Given the description of an element on the screen output the (x, y) to click on. 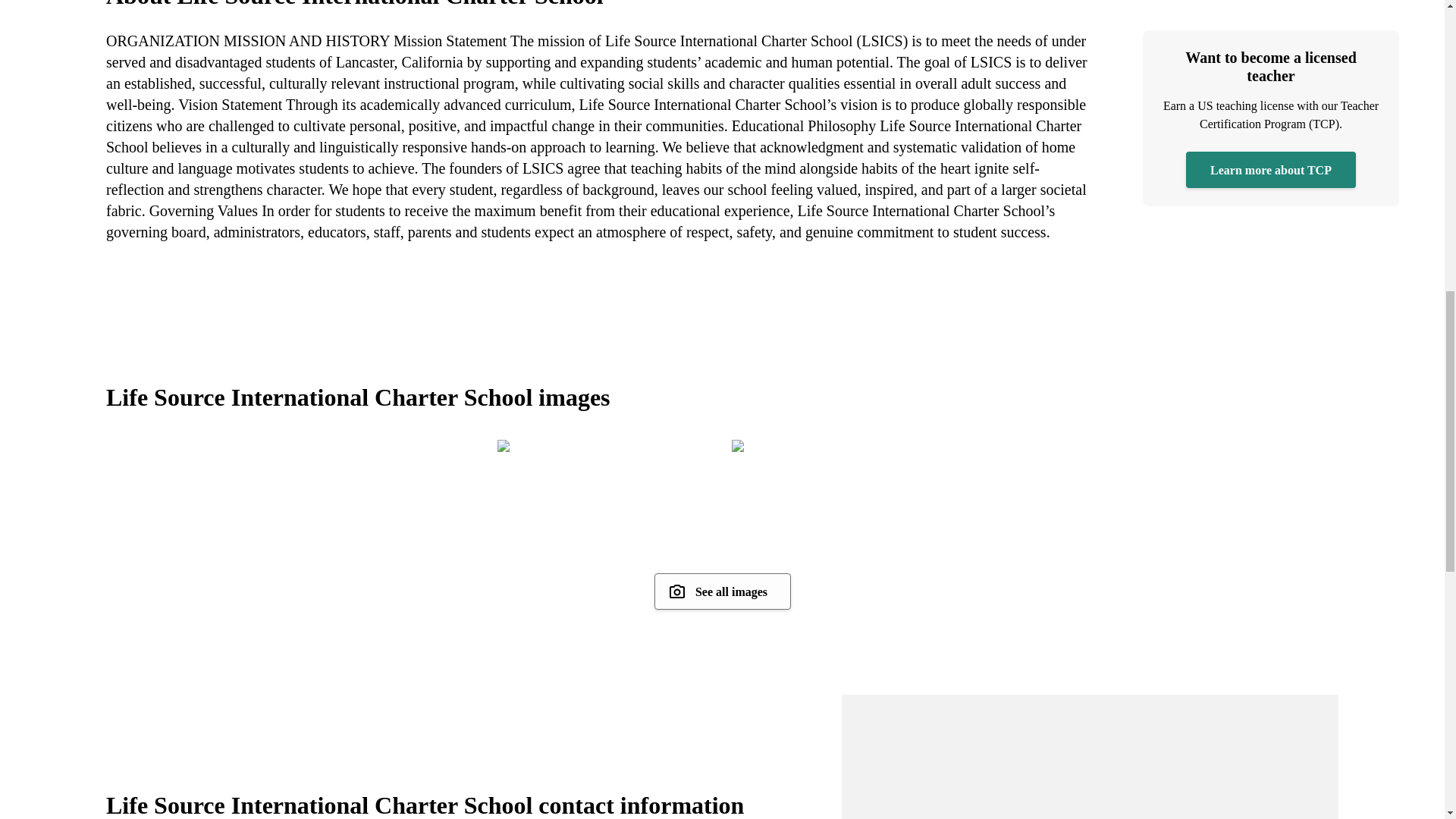
School map (1089, 756)
